Given the description of an element on the screen output the (x, y) to click on. 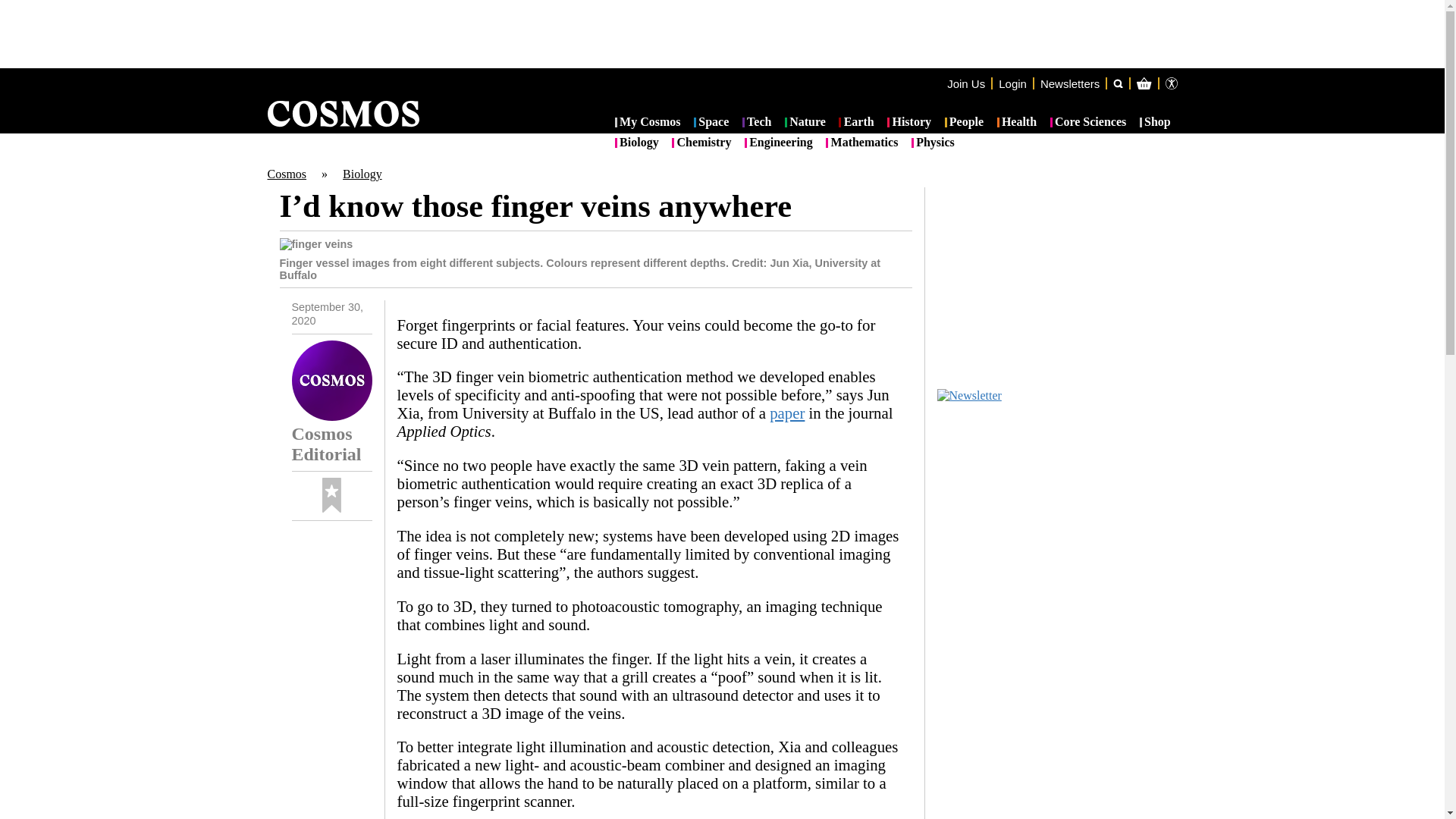
My Cosmos (647, 122)
Biology (361, 173)
Cosmos (285, 173)
Mathematics (861, 143)
Accessibility Tools (1170, 82)
Earth (855, 122)
Login (1012, 82)
Newsletters (1070, 82)
Nature (804, 122)
Join Us (966, 82)
